Given the description of an element on the screen output the (x, y) to click on. 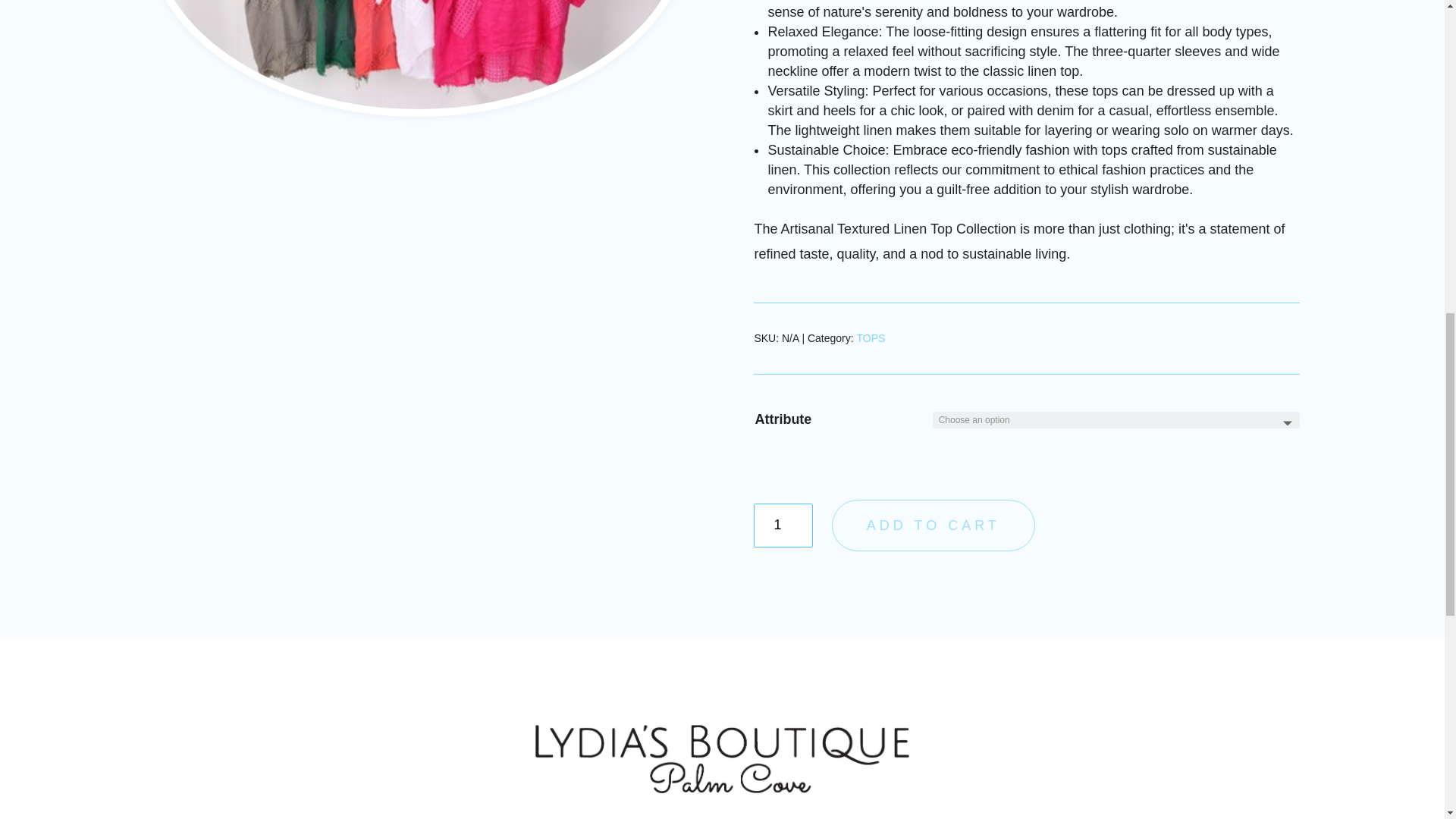
TOPS (871, 337)
lydias-boutique-logo-text (721, 758)
Artisanal Textured Linen Top 53289 (416, 54)
1 (783, 525)
ADD TO CART (933, 525)
